Given the description of an element on the screen output the (x, y) to click on. 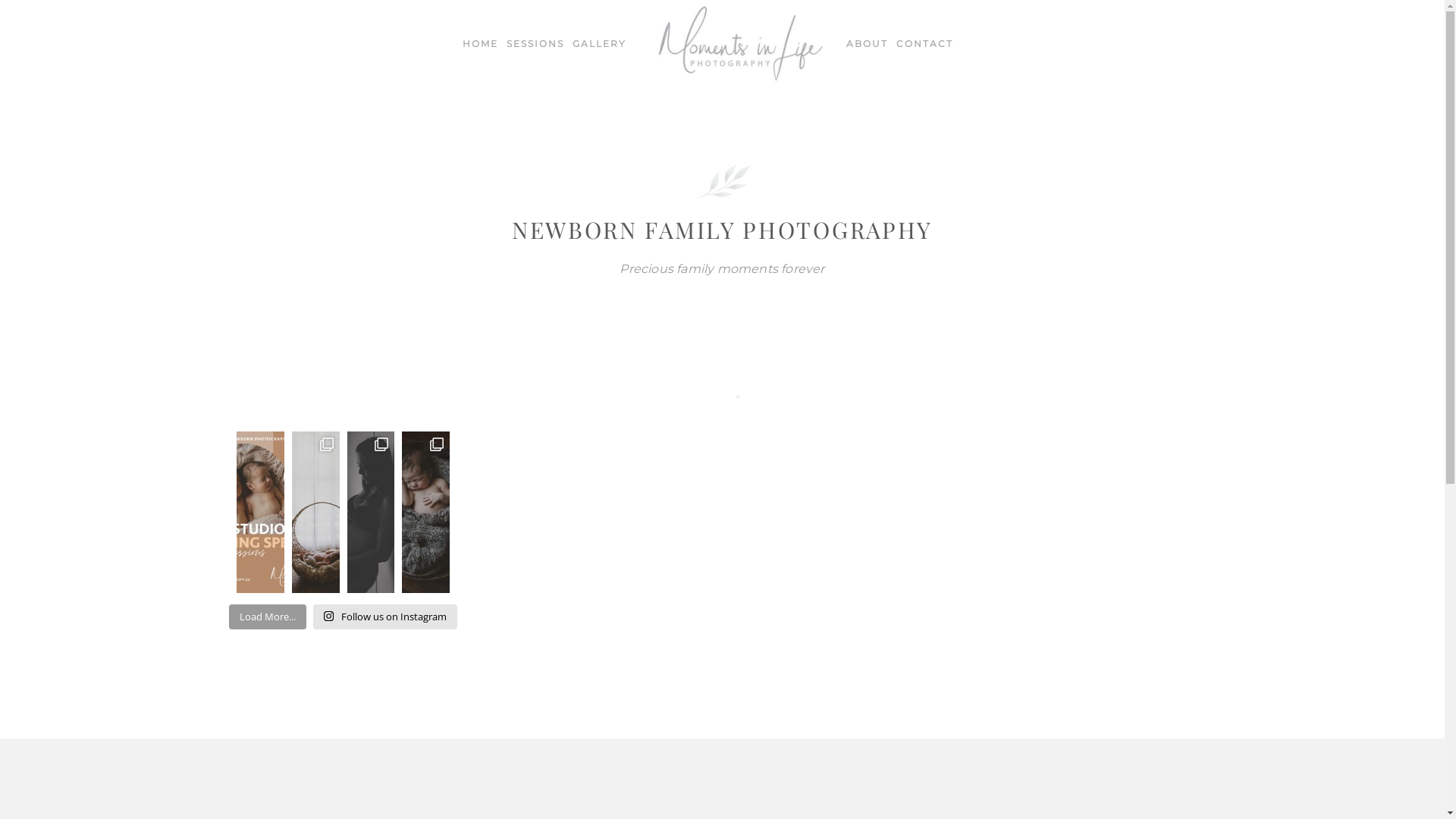
ABOUT Element type: text (866, 43)
Follow us on Instagram Element type: text (385, 616)
CONTACT Element type: text (924, 43)
GALLERY Element type: text (598, 43)
Load More... Element type: text (267, 616)
HOME Element type: text (480, 43)
SESSIONS Element type: text (534, 43)
